Given the description of an element on the screen output the (x, y) to click on. 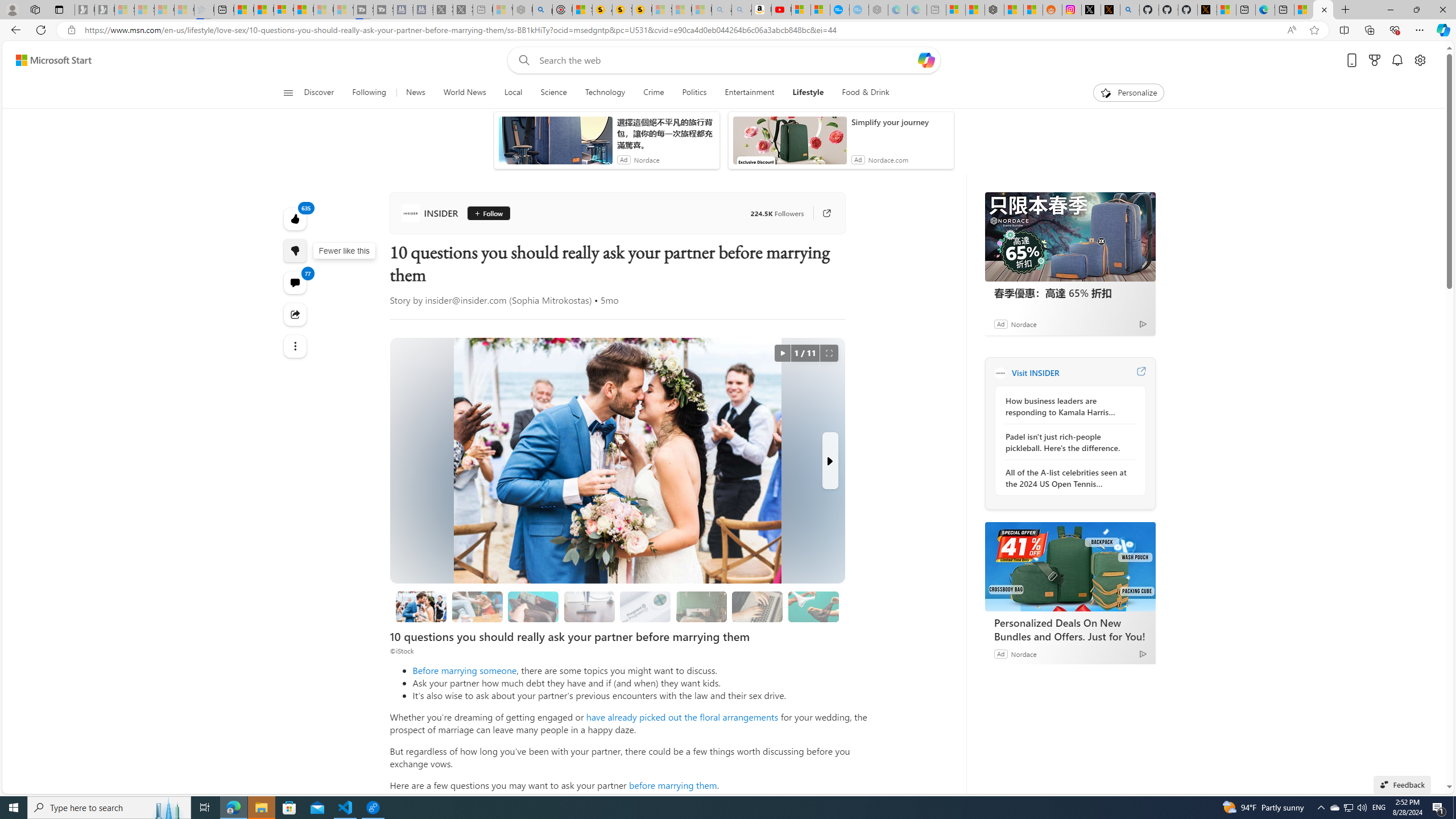
before marrying them (672, 784)
Discover (319, 92)
anim-content (789, 144)
World News (464, 92)
Skip to content (49, 59)
Overview (283, 9)
Two friend sitting at a coffee shop petting a dog. (477, 606)
Discover (323, 92)
Full screen (828, 352)
